Given the description of an element on the screen output the (x, y) to click on. 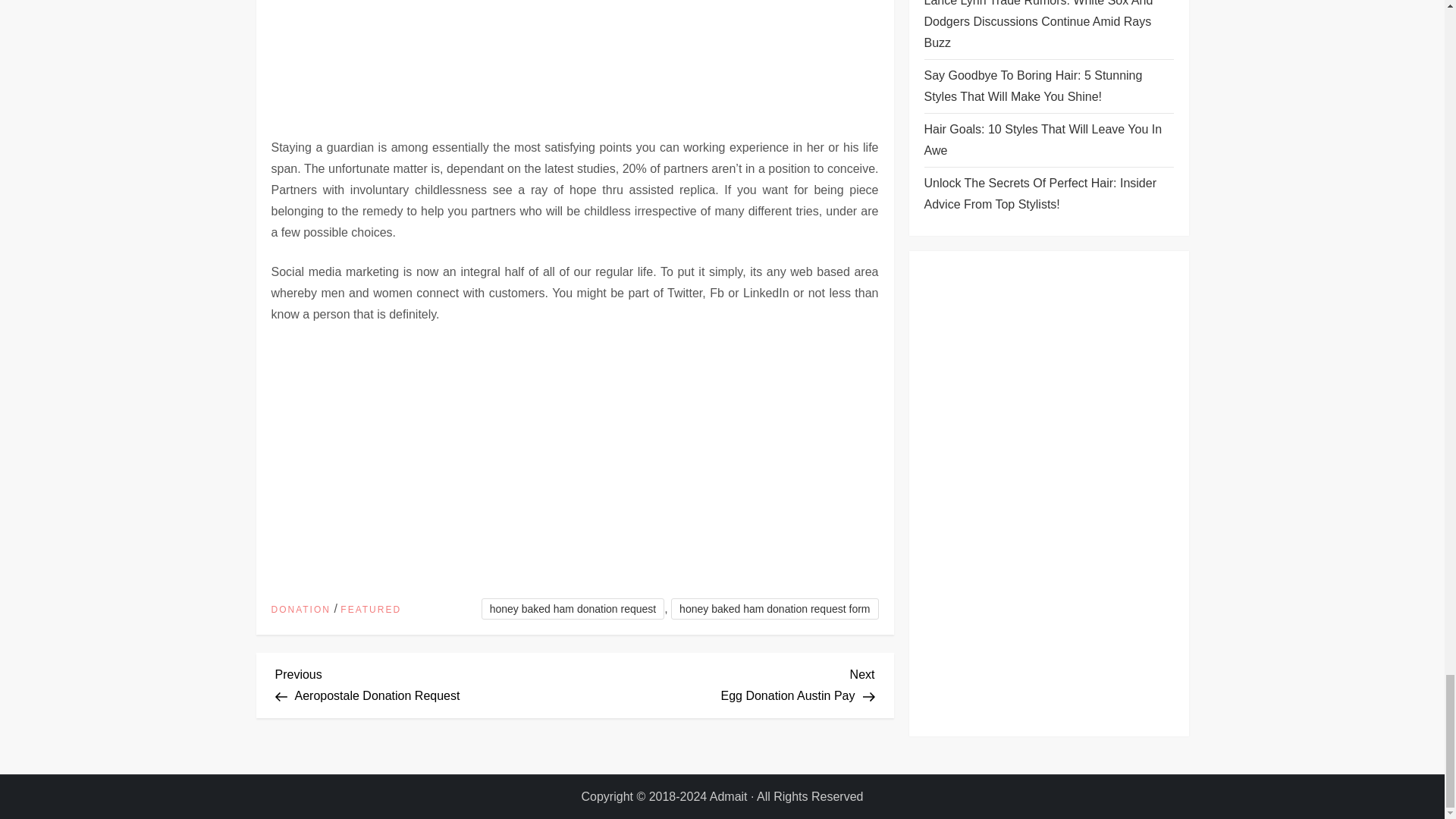
honey baked ham donation request form (725, 682)
FEATURED (774, 608)
DONATION (370, 610)
honey baked ham donation request (300, 610)
